Given the description of an element on the screen output the (x, y) to click on. 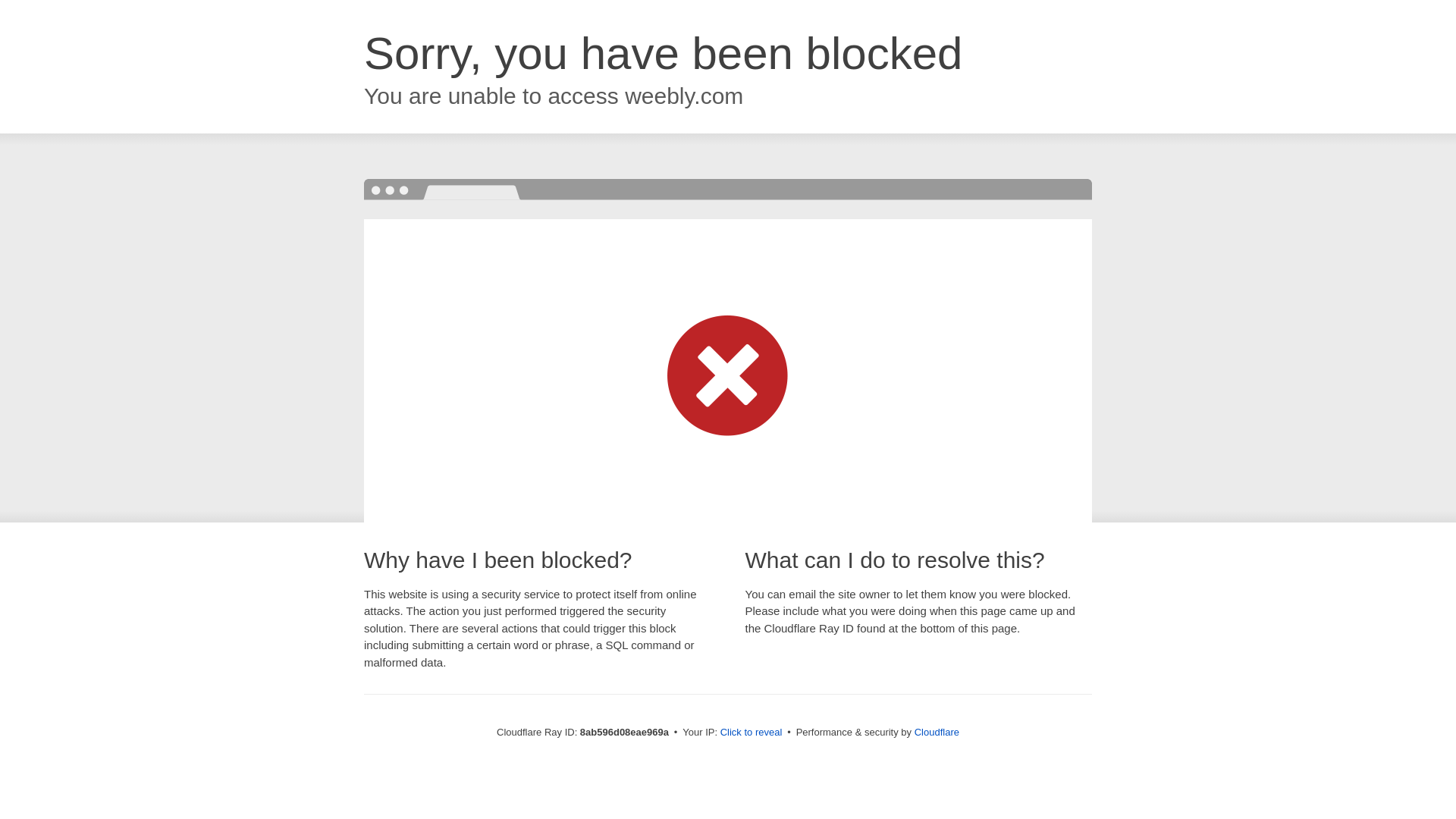
Click to reveal (751, 732)
Cloudflare (936, 731)
